Given the description of an element on the screen output the (x, y) to click on. 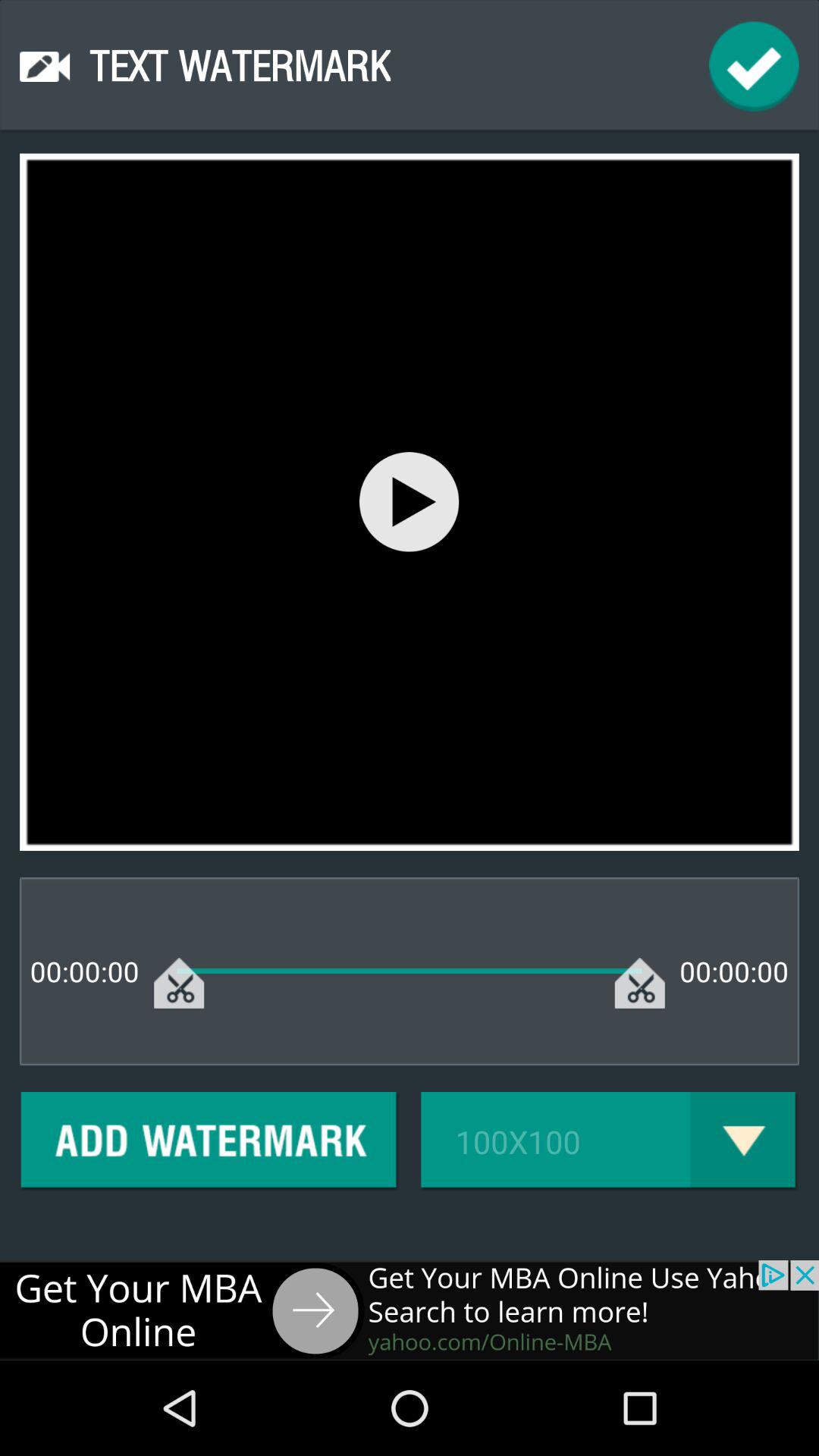
play buton (408, 501)
